Given the description of an element on the screen output the (x, y) to click on. 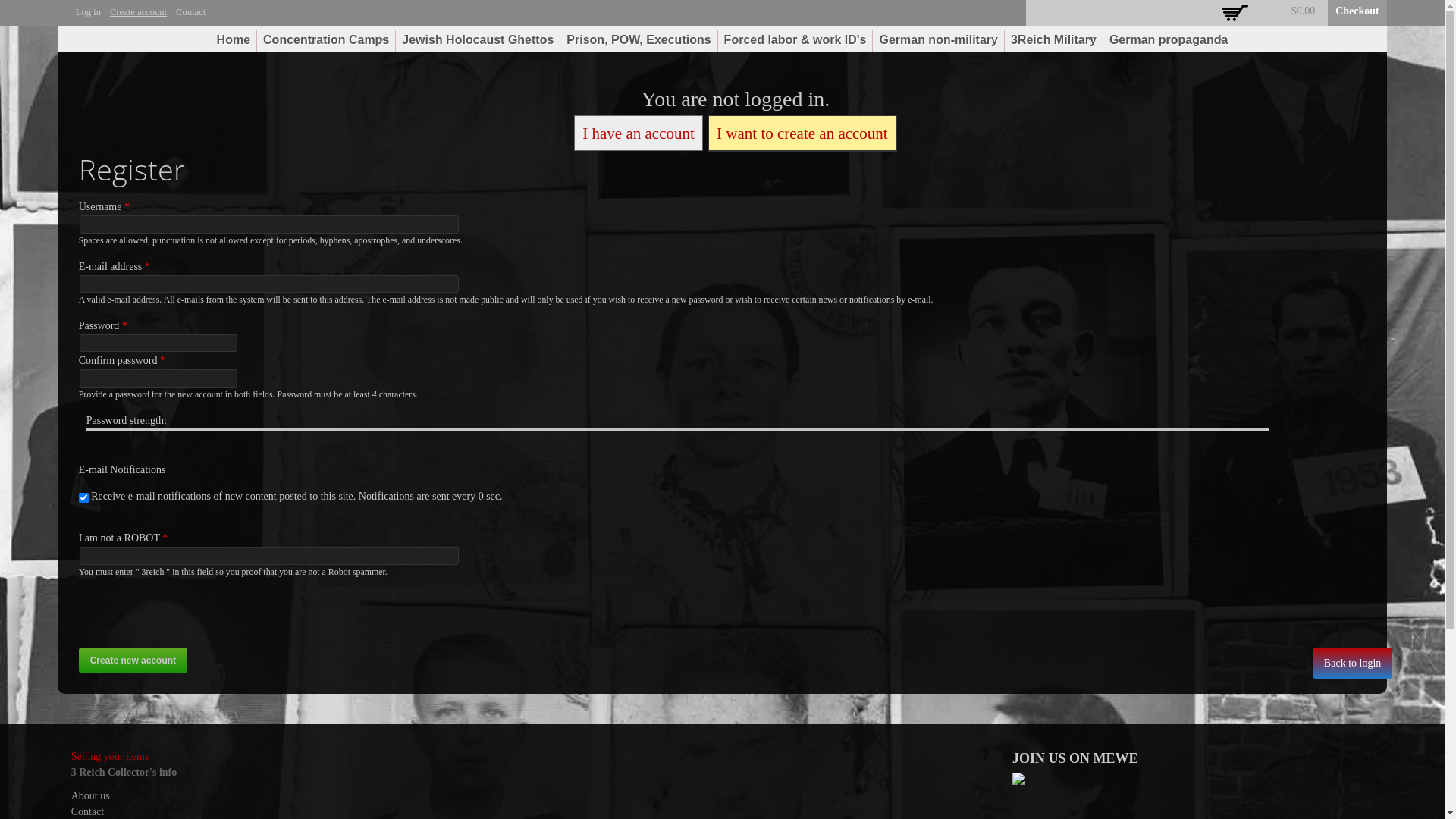
Home Element type: text (233, 39)
Prison, POW, Executions Element type: text (638, 39)
Log in Element type: text (88, 12)
Forced labor & work ID's Element type: text (795, 39)
Skip to main content Element type: text (689, 1)
Checkout Element type: text (1357, 10)
Selling your items Element type: text (110, 756)
Contact Element type: text (87, 811)
Contact Element type: text (190, 12)
Create new account Element type: text (132, 660)
I have an account Element type: text (638, 132)
German non-military Element type: text (937, 39)
Jewish Holocaust Ghettos Element type: text (477, 39)
Create account Element type: text (138, 12)
I want to create an account Element type: text (802, 132)
About us Element type: text (90, 795)
Back to login Element type: text (1352, 662)
